Given the description of an element on the screen output the (x, y) to click on. 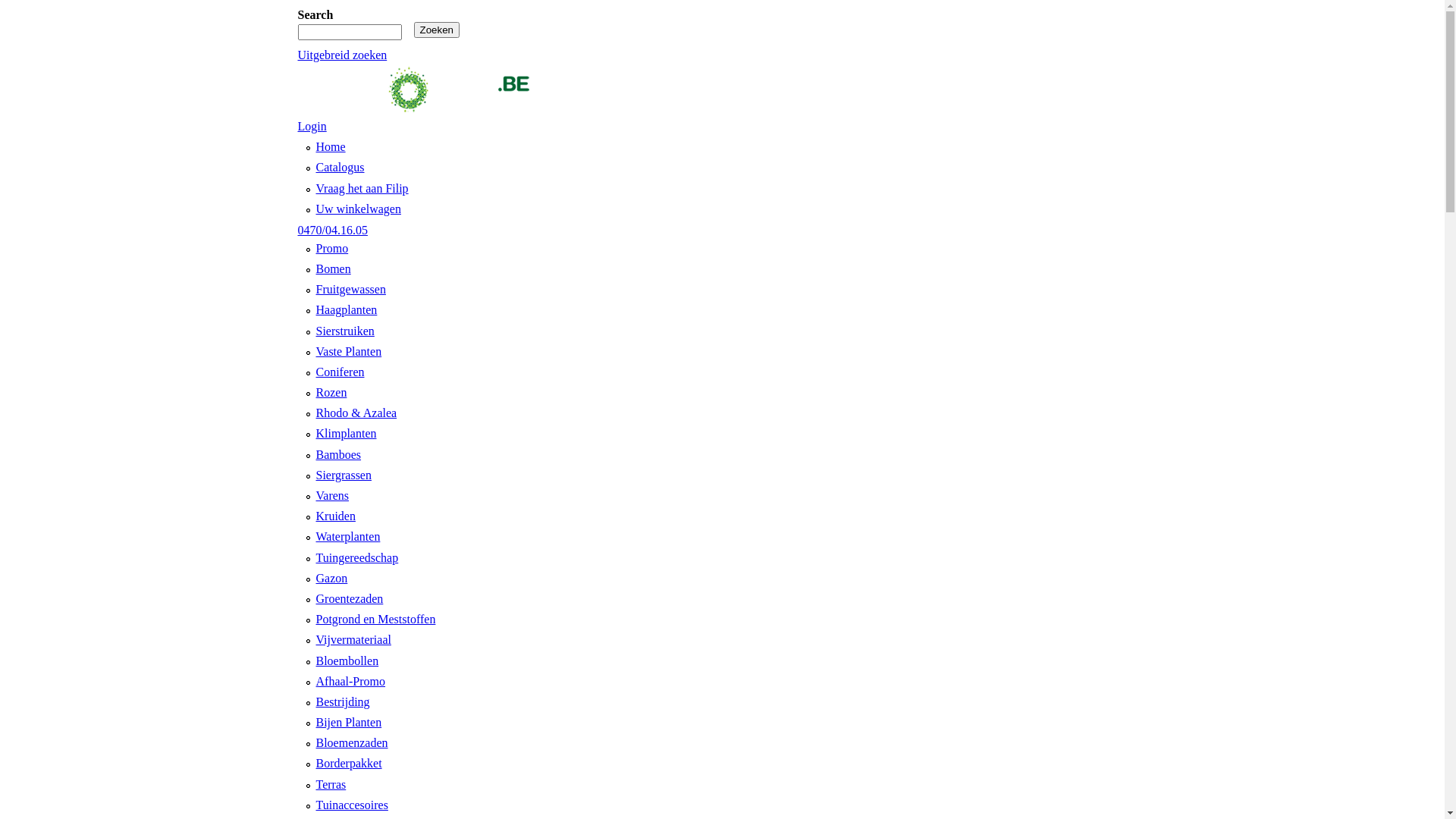
Varens Element type: text (331, 495)
Home Element type: text (330, 146)
Rhodo & Azalea Element type: text (355, 412)
Siergrassen Element type: text (342, 474)
Kruiden Element type: text (334, 515)
Afhaal-Promo Element type: text (350, 680)
Uitgebreid zoeken Element type: text (341, 54)
Rozen Element type: text (330, 391)
Bijen Planten Element type: text (348, 721)
Tuinaccesoires Element type: text (351, 804)
Bomen Element type: text (332, 268)
Bloemenzaden Element type: text (351, 742)
Gazon Element type: text (331, 577)
Fruitgewassen Element type: text (350, 288)
Zoeken Element type: text (436, 29)
Borderpakket Element type: text (348, 762)
Promo Element type: text (331, 247)
Waterplanten Element type: text (347, 536)
Vaste Planten Element type: text (348, 351)
Bestrijding Element type: text (342, 701)
Geef de woorden op waarnaar u wilt zoeken. Element type: hover (349, 32)
Klimplanten Element type: text (345, 432)
0470/04.16.05 Element type: text (332, 229)
Vijvermateriaal Element type: text (352, 639)
Bloembollen Element type: text (346, 659)
Tuingereedschap Element type: text (356, 557)
Catalogus Element type: text (339, 166)
Uw winkelwagen Element type: text (357, 208)
Terras Element type: text (330, 784)
Login Element type: text (311, 125)
Vraag het aan Filip Element type: text (361, 188)
Sierstruiken Element type: text (344, 330)
Coniferen Element type: text (339, 371)
Haagplanten Element type: text (345, 309)
Bamboes Element type: text (337, 454)
Groentezaden Element type: text (348, 598)
Potgrond en Meststoffen Element type: text (375, 618)
